Given the description of an element on the screen output the (x, y) to click on. 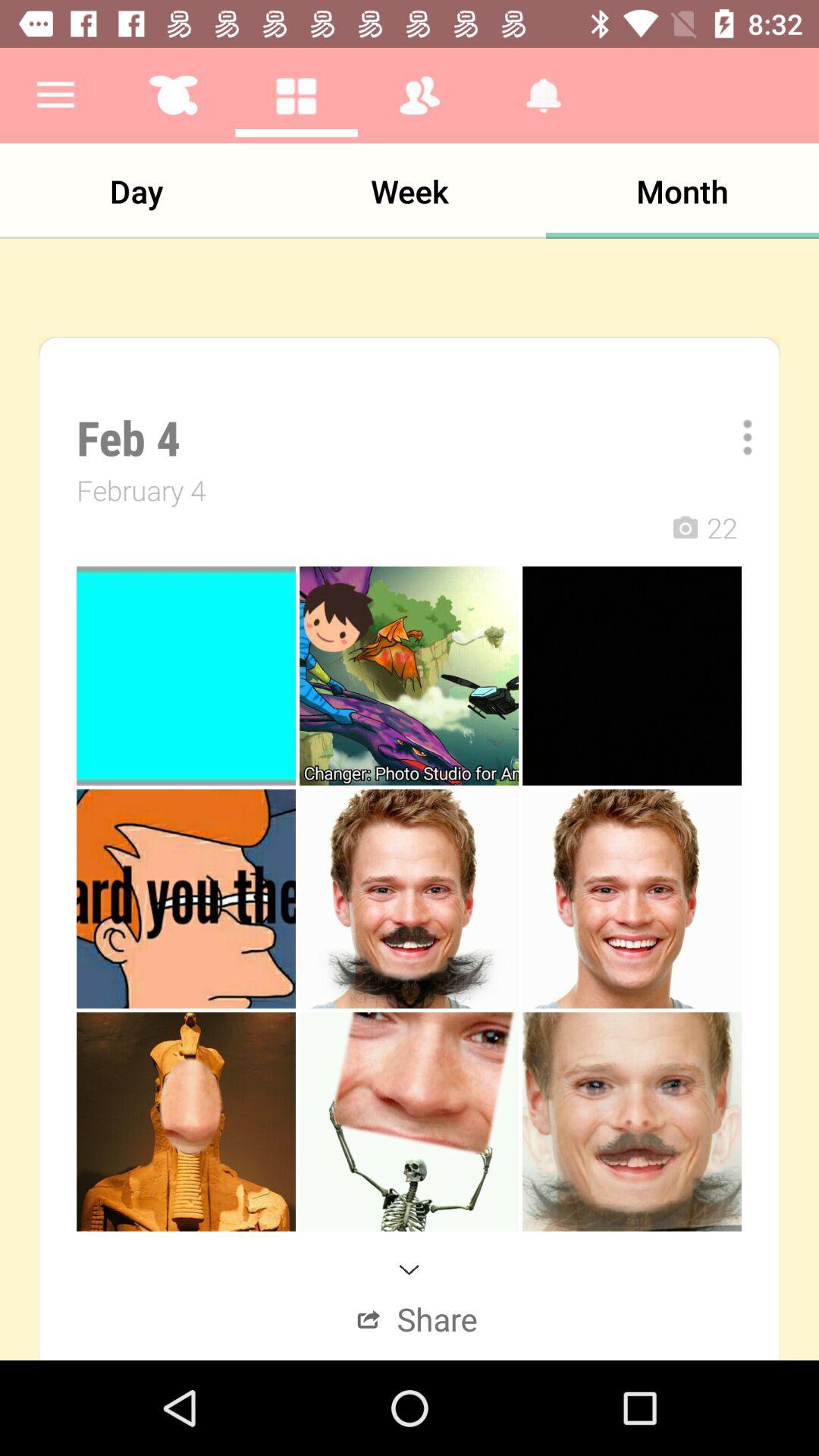
tap the item to the left of week app (136, 190)
